Given the description of an element on the screen output the (x, y) to click on. 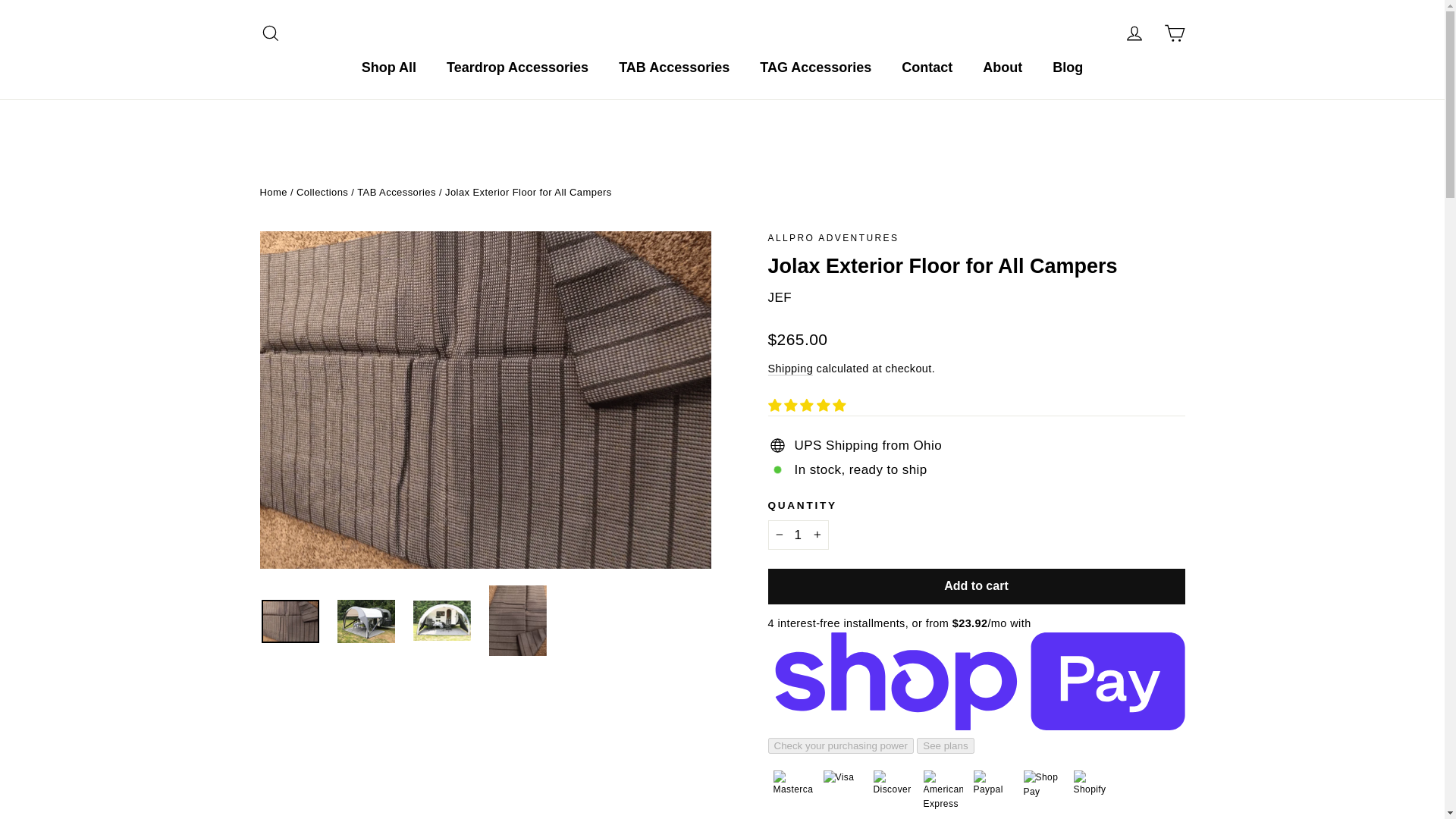
TAB Accessories (674, 67)
account (1134, 33)
TAG Accessories (815, 67)
icon-cart (1134, 33)
Collections (1174, 33)
Blog (322, 192)
1 (269, 33)
